Given the description of an element on the screen output the (x, y) to click on. 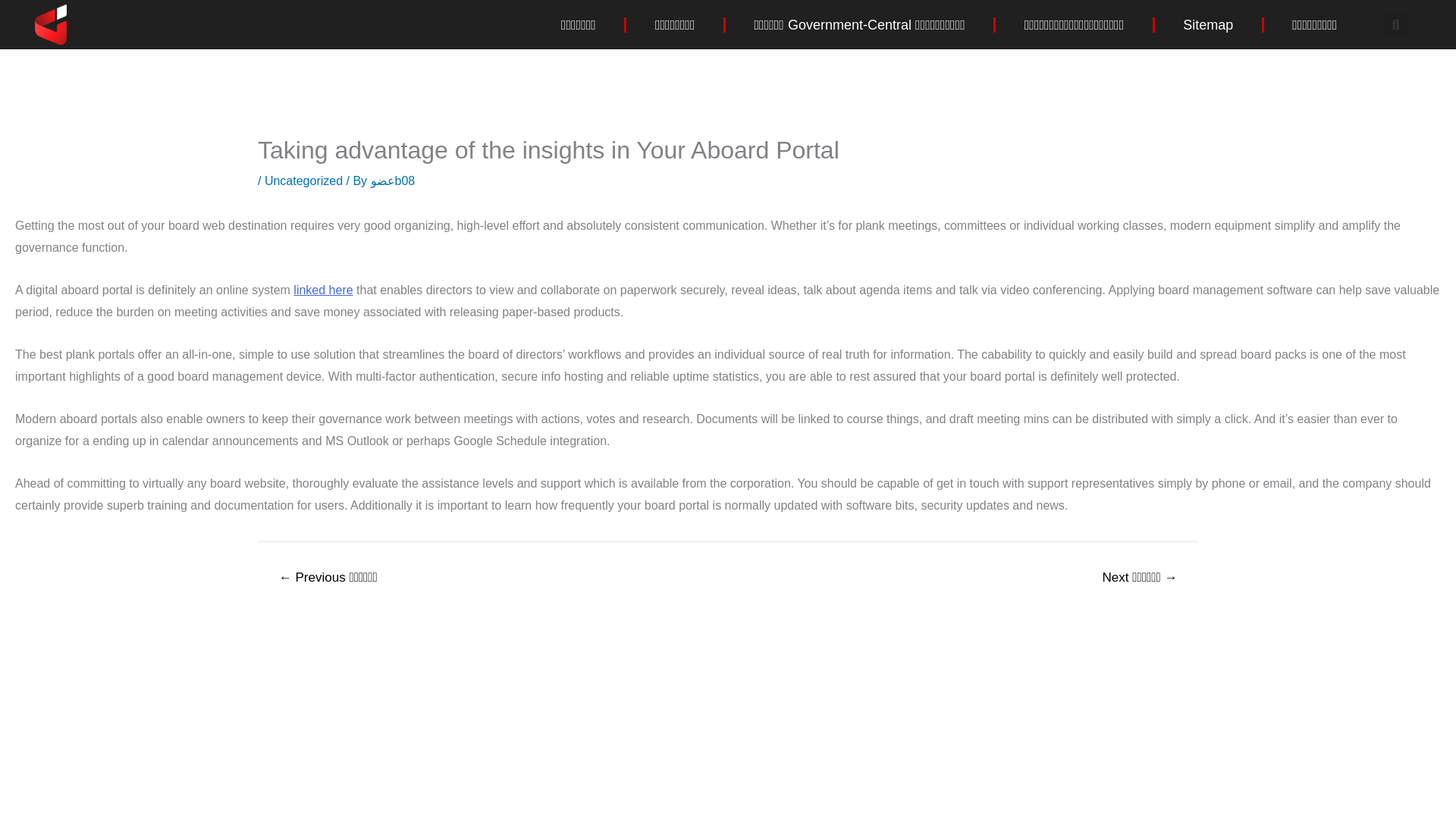
Uncategorized (303, 180)
Sitemap (1207, 24)
linked here (323, 289)
